Given the description of an element on the screen output the (x, y) to click on. 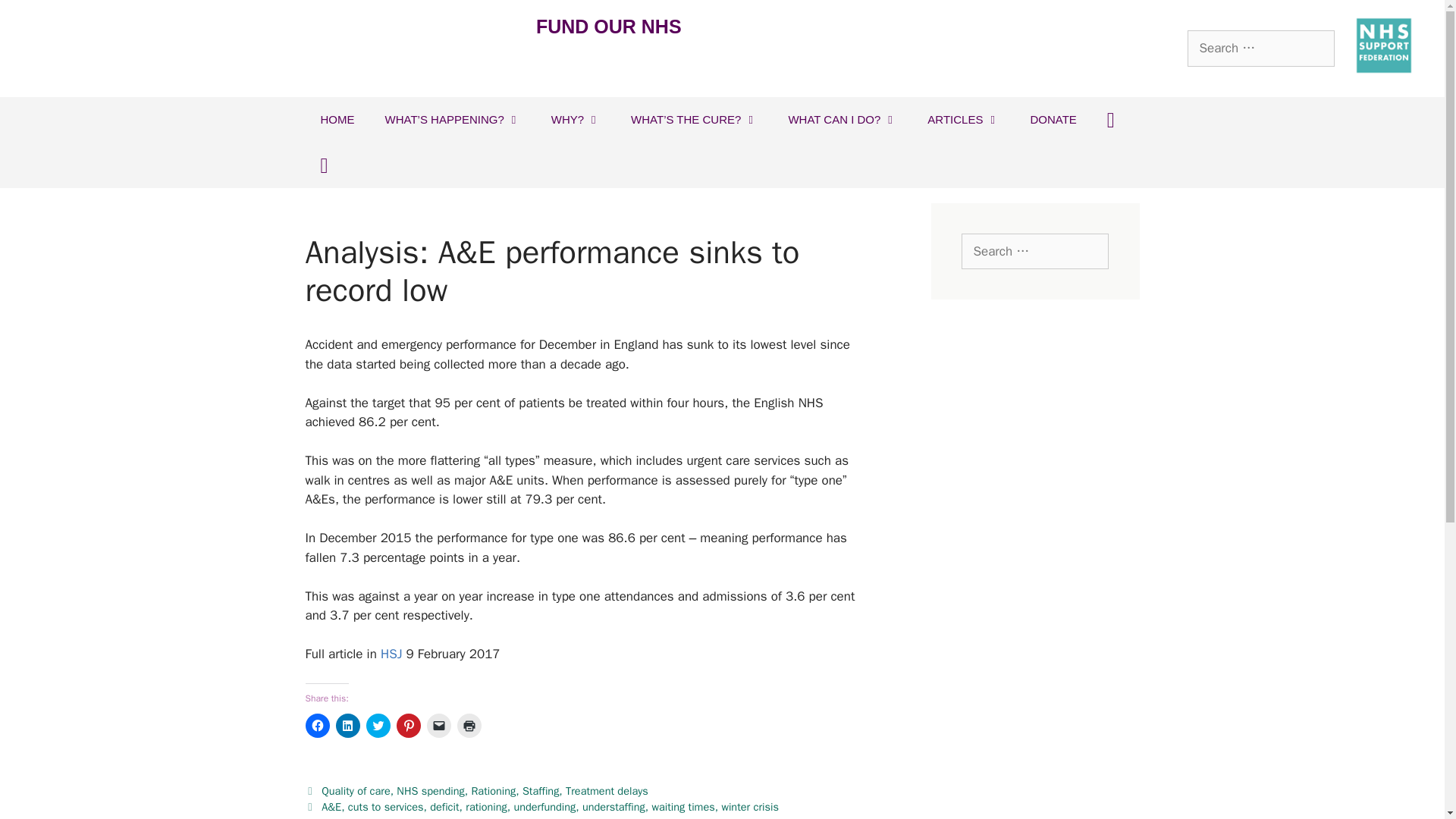
Click to share on Pinterest (408, 725)
Click to print (468, 725)
FUND OUR NHS (608, 25)
Click to share on Facebook (316, 725)
Search for: (1034, 251)
Search for: (1261, 48)
Search (35, 18)
Click to email a link to a friend (437, 725)
Click to share on LinkedIn (346, 725)
Click to share on Twitter (377, 725)
